Given the description of an element on the screen output the (x, y) to click on. 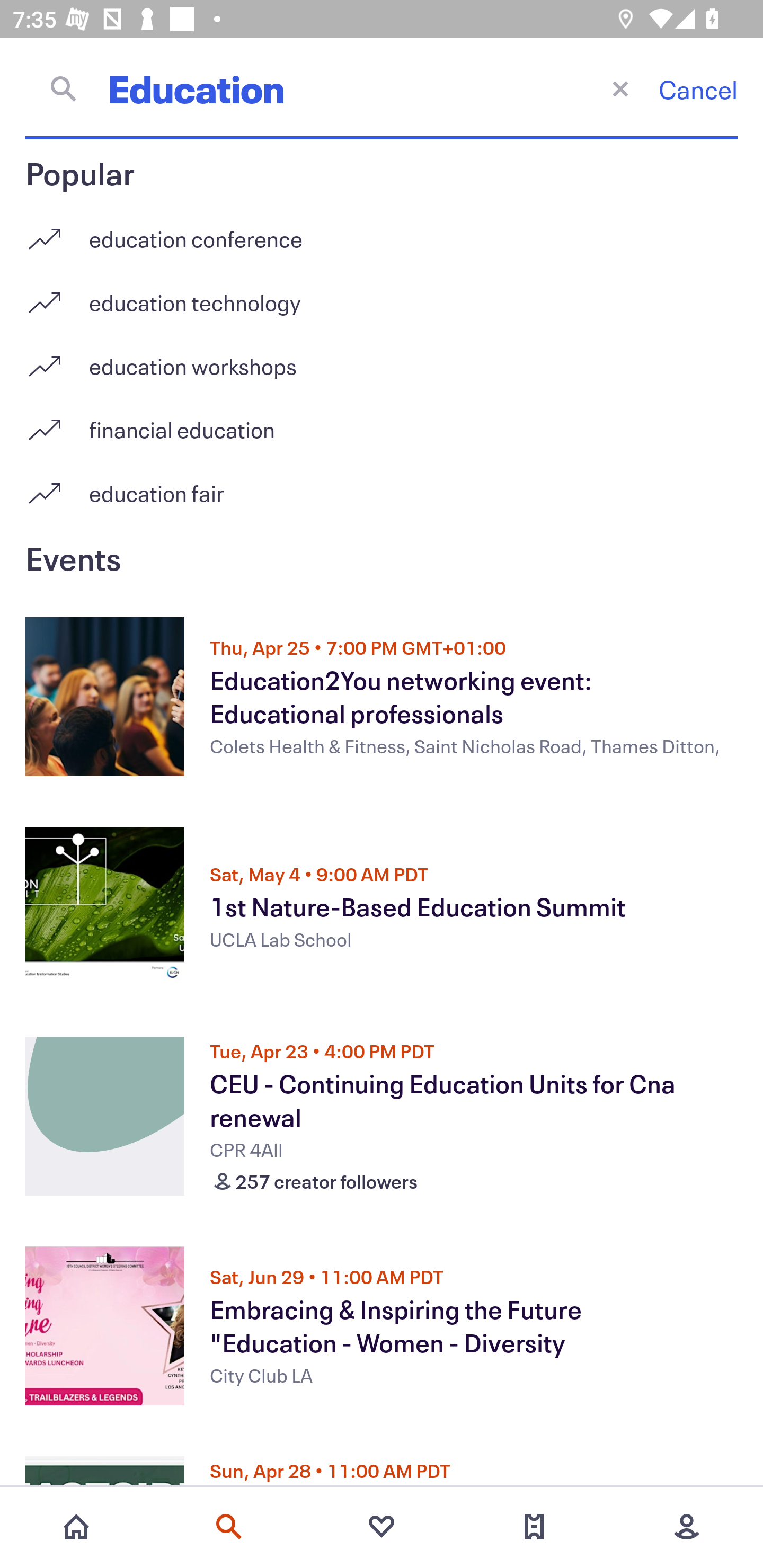
Education Close current screen Cancel (381, 88)
Close current screen (620, 88)
Cancel (697, 89)
education conference (381, 231)
education technology (381, 295)
education workshops (381, 358)
financial education (381, 422)
education fair (381, 492)
Home (76, 1526)
Search events (228, 1526)
Favorites (381, 1526)
Tickets (533, 1526)
More (686, 1526)
